Given the description of an element on the screen output the (x, y) to click on. 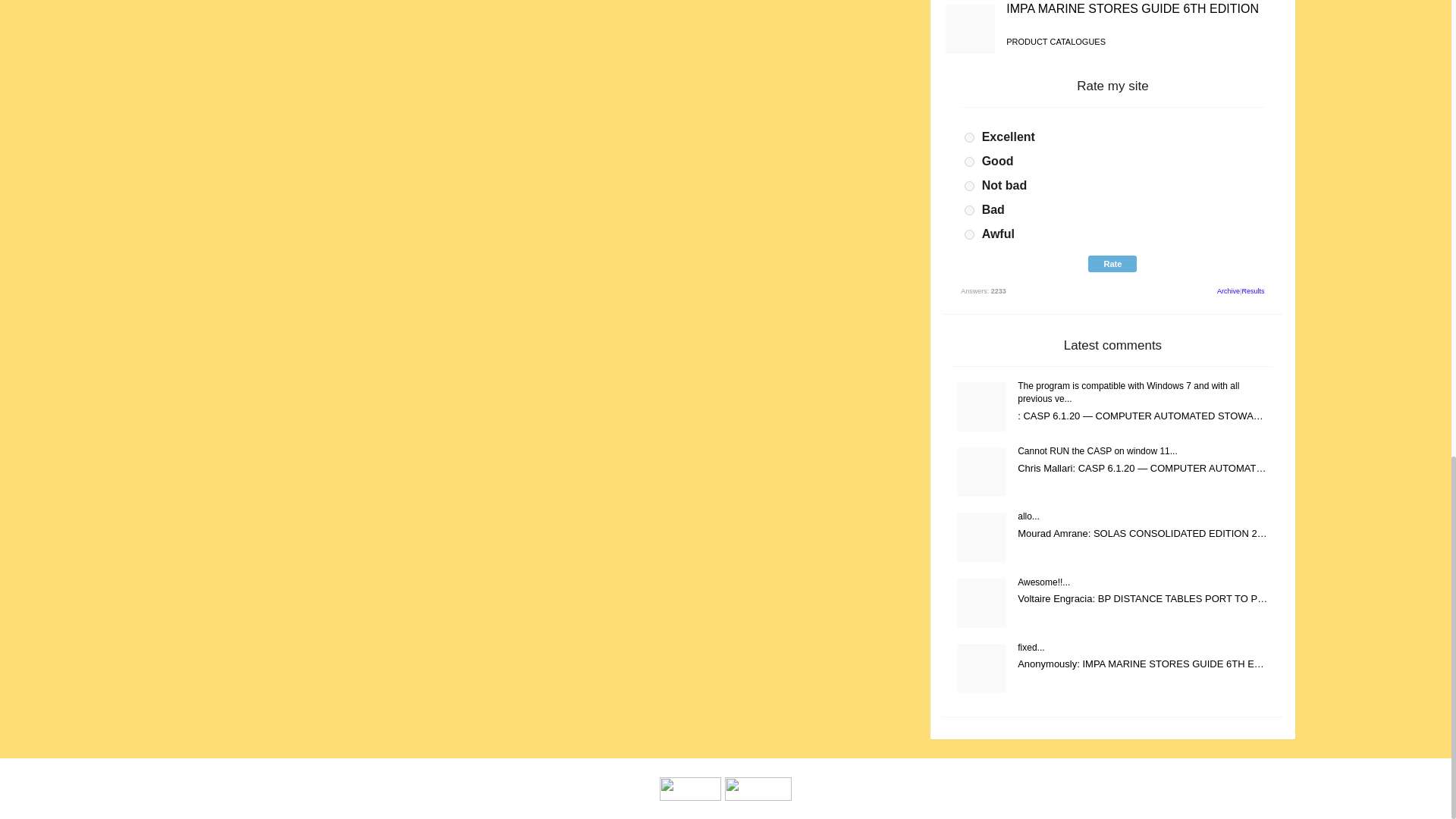
3 (968, 185)
IMPA MARINE STORES GUIDE 6TH EDITION (1132, 8)
Rate (1112, 263)
PRODUCT CATALOGUES (1055, 40)
uCoz Counter (758, 788)
1 (968, 137)
2 (968, 162)
5 (968, 234)
4 (968, 210)
